Given the description of an element on the screen output the (x, y) to click on. 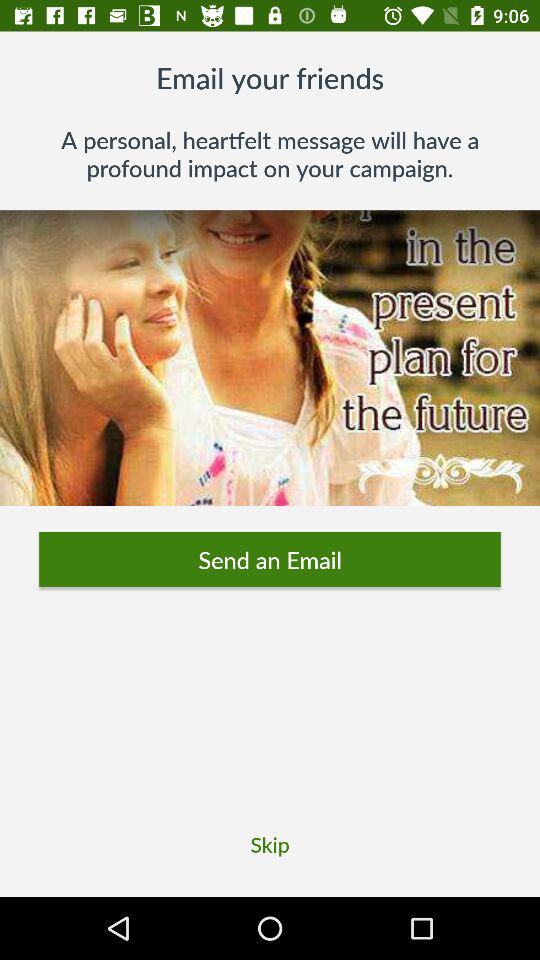
jump to the send an email item (269, 559)
